Given the description of an element on the screen output the (x, y) to click on. 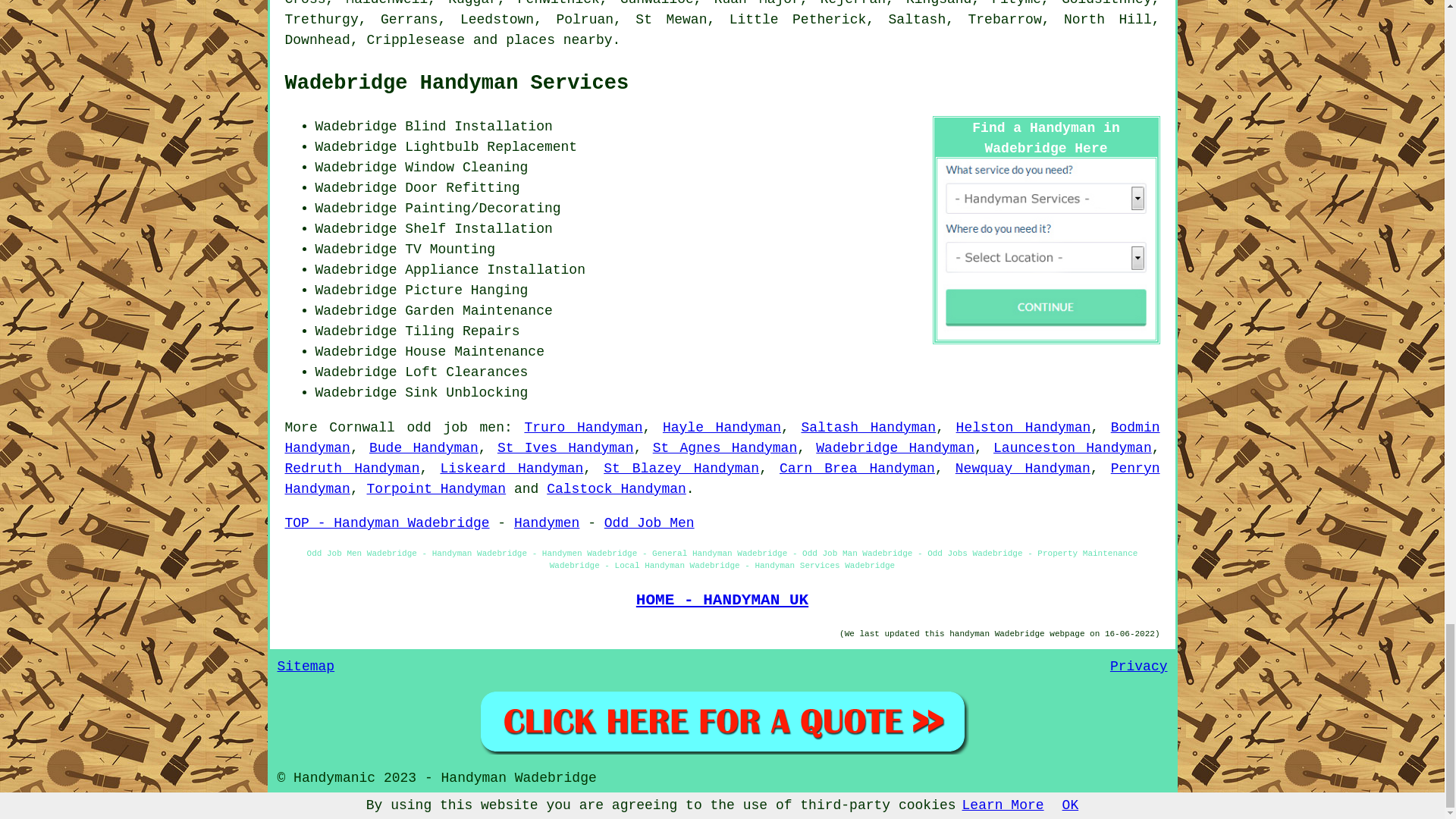
Liskeard Handyman (511, 468)
Penryn Handyman (722, 478)
Wadebridge Handyman (894, 447)
St Agnes Handyman (724, 447)
Bude Handyman (424, 447)
Bodmin Handyman (722, 437)
Redruth Handyman (352, 468)
Truro Handyman (583, 427)
Launceston Handyman (1071, 447)
St Ives Handyman (565, 447)
Saltash Handyman (868, 427)
Carn Brea Handyman (856, 468)
Newquay Handyman (1022, 468)
St Blazey Handyman (681, 468)
Helston Handyman (1023, 427)
